Given the description of an element on the screen output the (x, y) to click on. 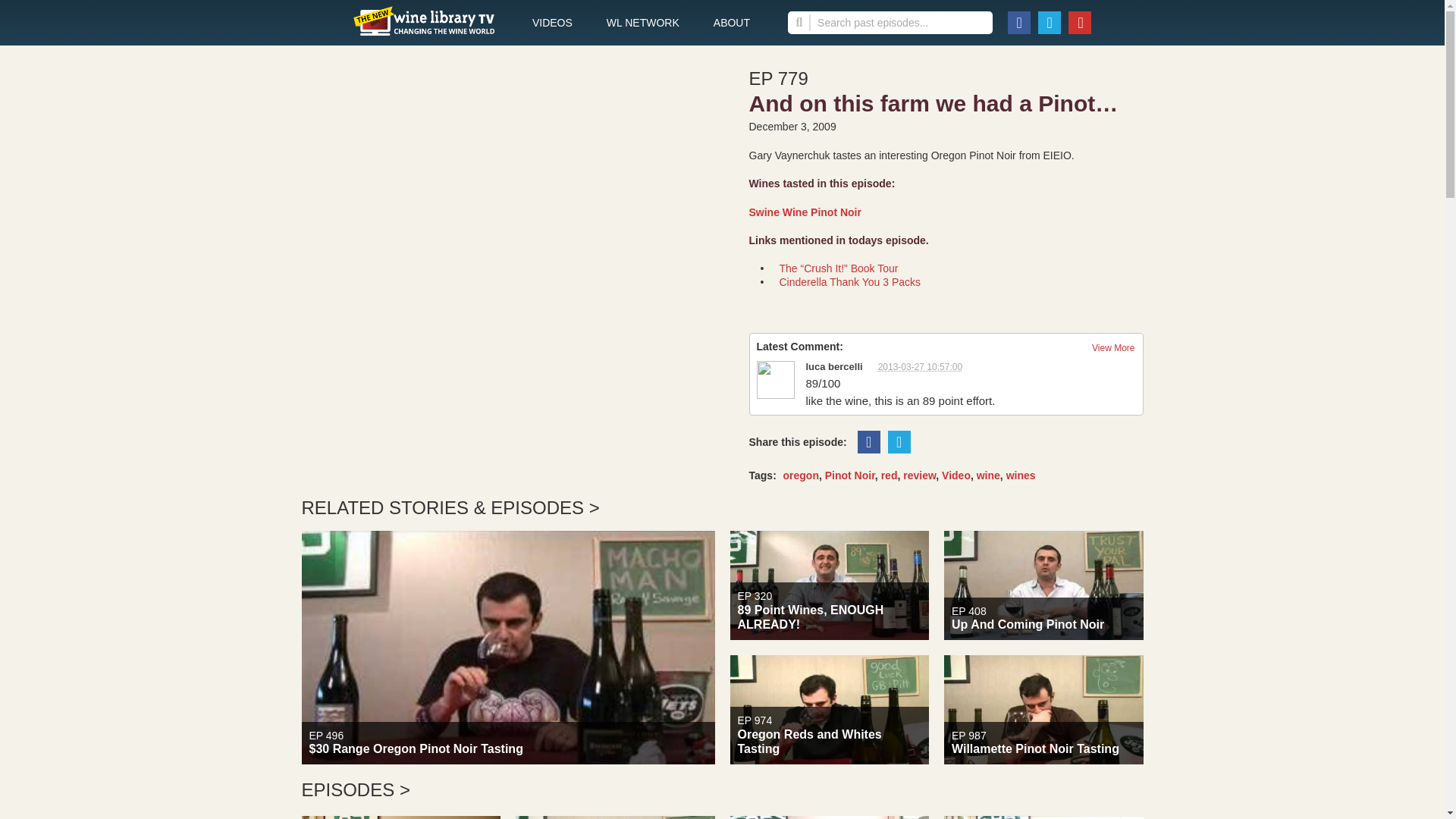
wines (828, 817)
View all posts in wine (1020, 475)
ABOUT (988, 475)
View More (731, 22)
Cinderella Thank You 3 Packs (1113, 347)
Swine Wine Pinot Noir (849, 282)
View all posts in wines (614, 817)
Video (805, 212)
View all posts in oregon (1020, 475)
wine (956, 475)
Pinot Noir (800, 475)
View all posts in Pinot Noir (988, 475)
